Given the description of an element on the screen output the (x, y) to click on. 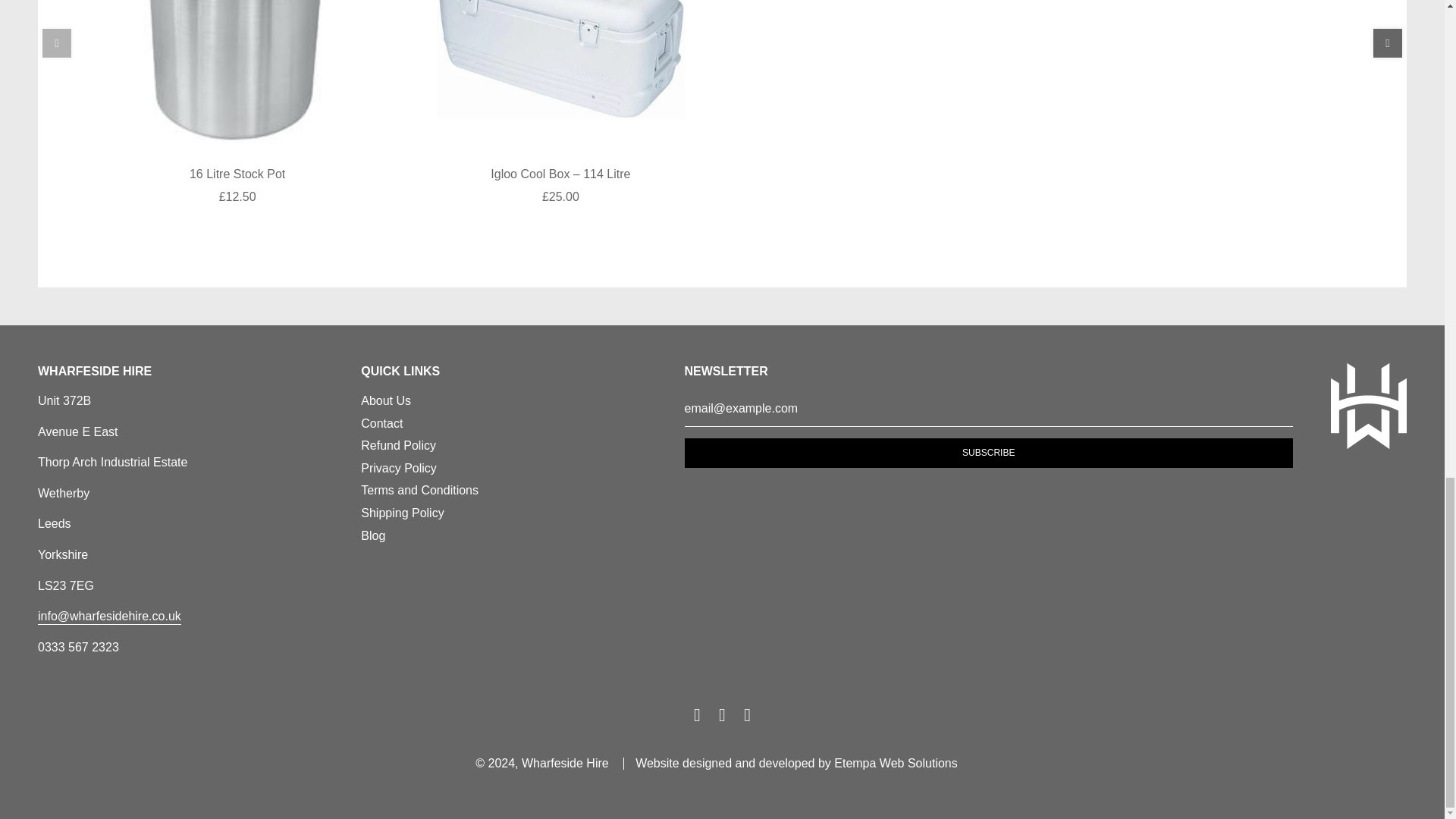
Subscribe (988, 452)
